Given the description of an element on the screen output the (x, y) to click on. 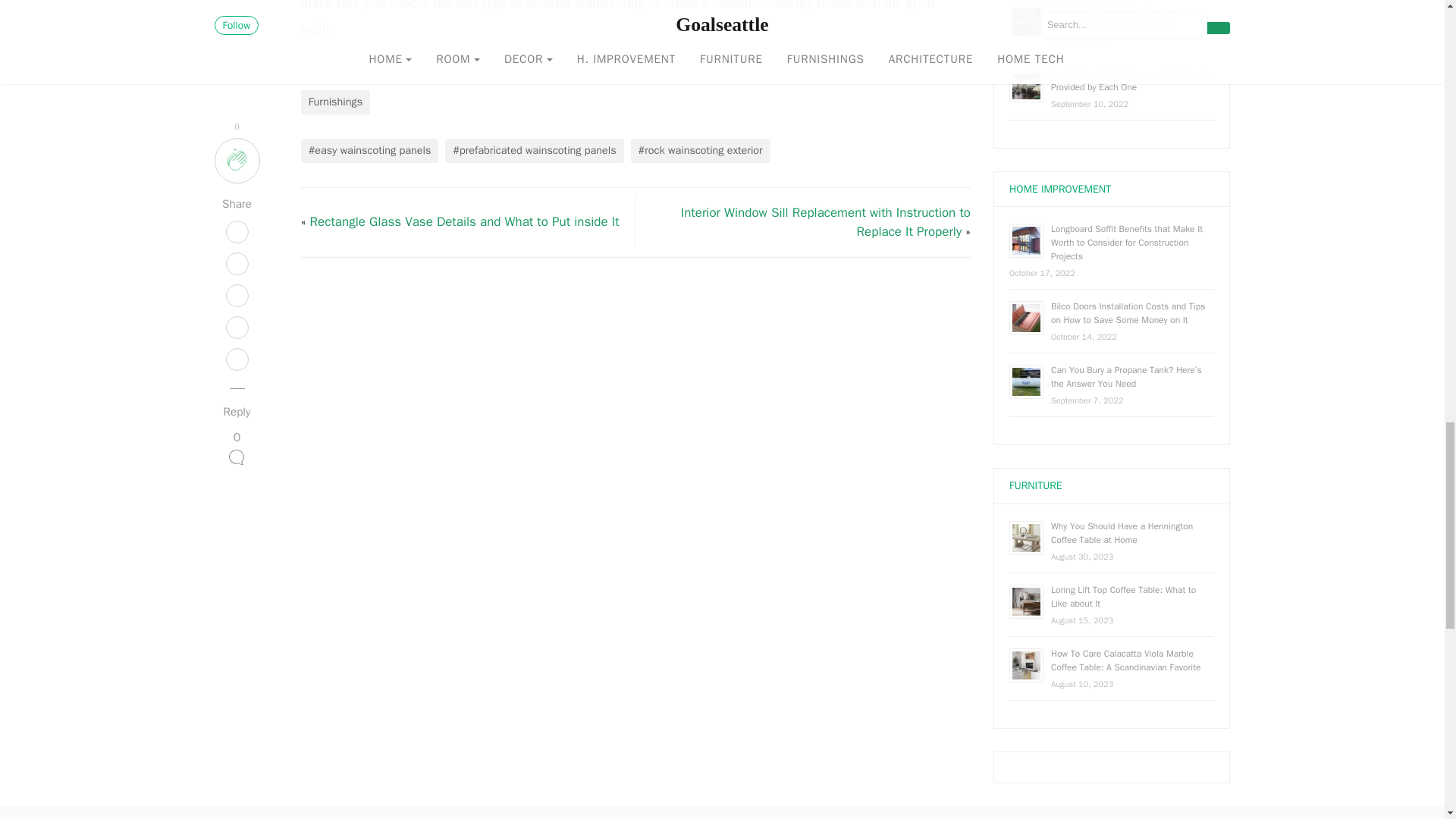
Home Improvement (1059, 188)
Furniture (1035, 485)
